Given the description of an element on the screen output the (x, y) to click on. 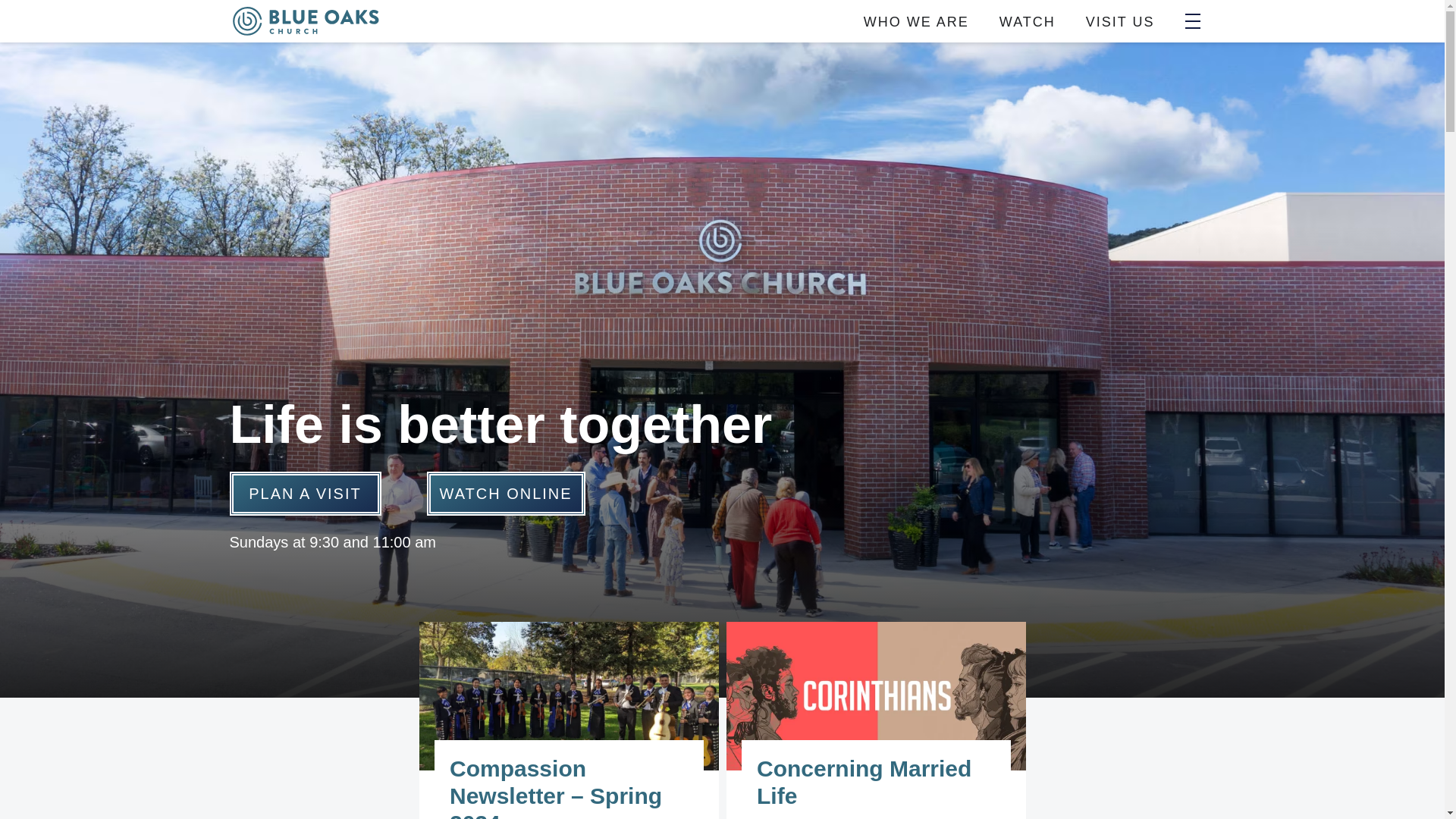
WHO WE ARE (916, 21)
WATCH (1026, 21)
VISIT US (1120, 21)
